Given the description of an element on the screen output the (x, y) to click on. 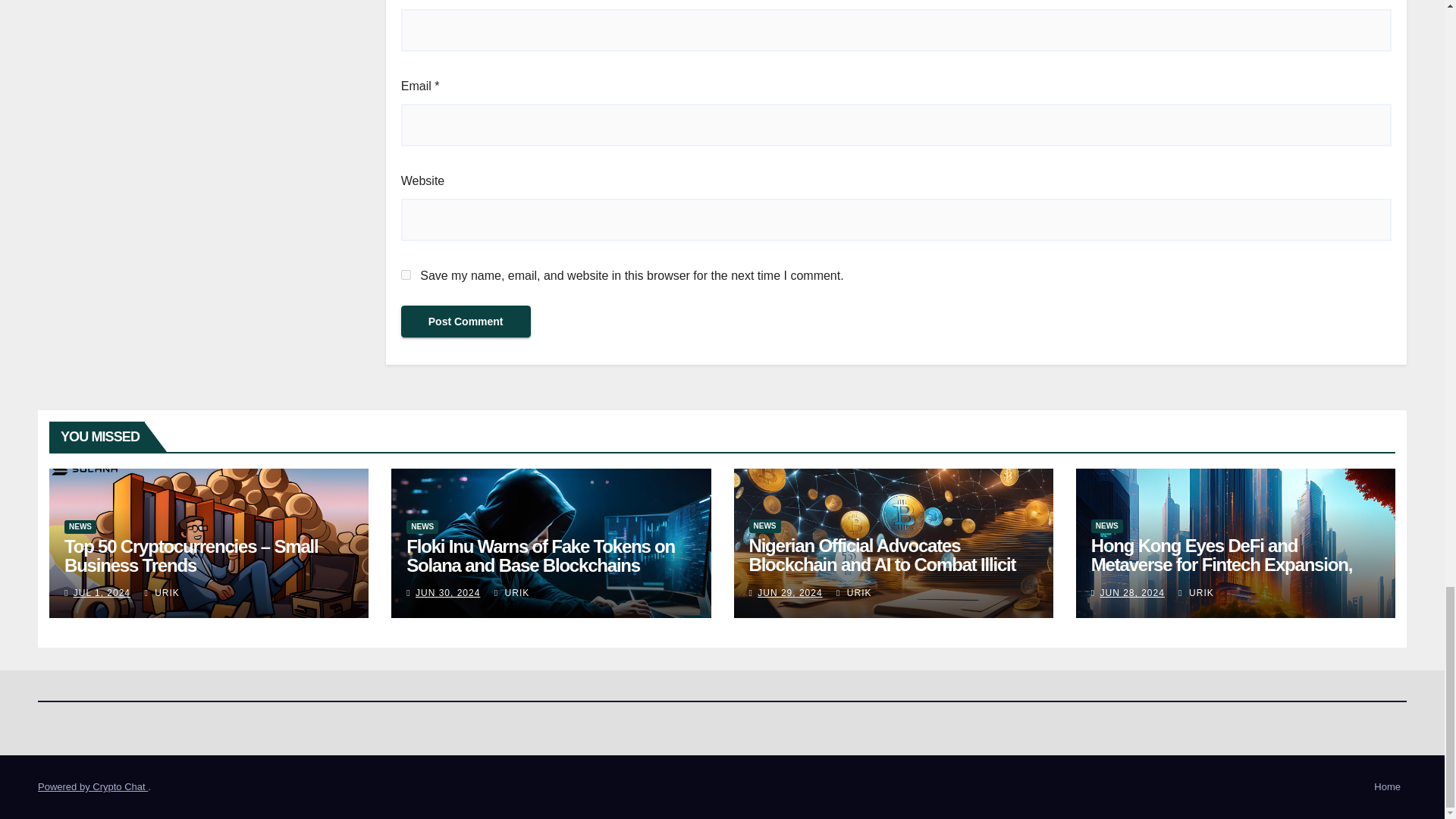
yes (405, 275)
Post Comment (466, 321)
